Given the description of an element on the screen output the (x, y) to click on. 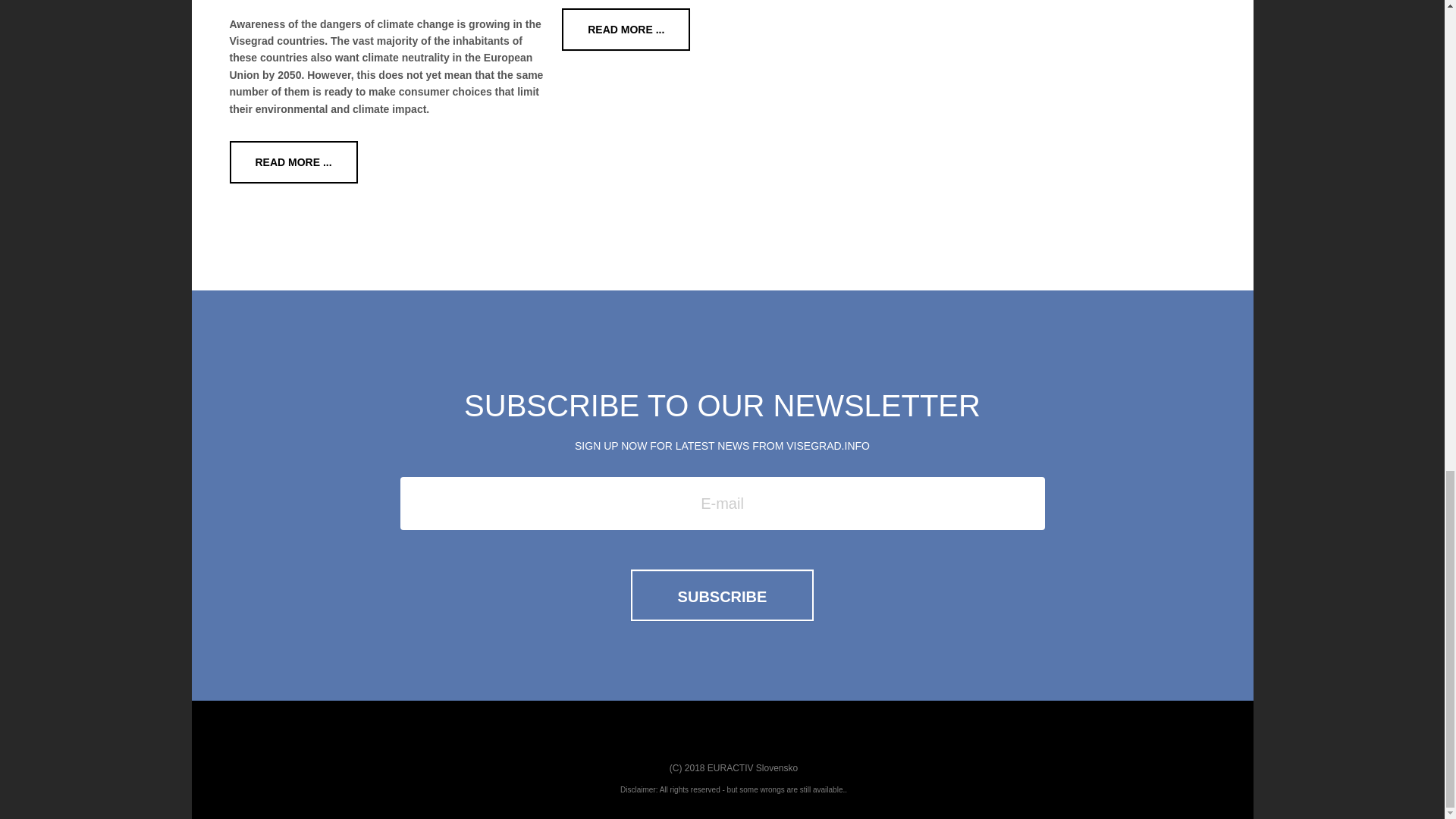
Subscribe (721, 594)
READ MORE ... (292, 161)
E-mail (722, 502)
READ MORE ... (626, 29)
E-mail (722, 502)
